Given the description of an element on the screen output the (x, y) to click on. 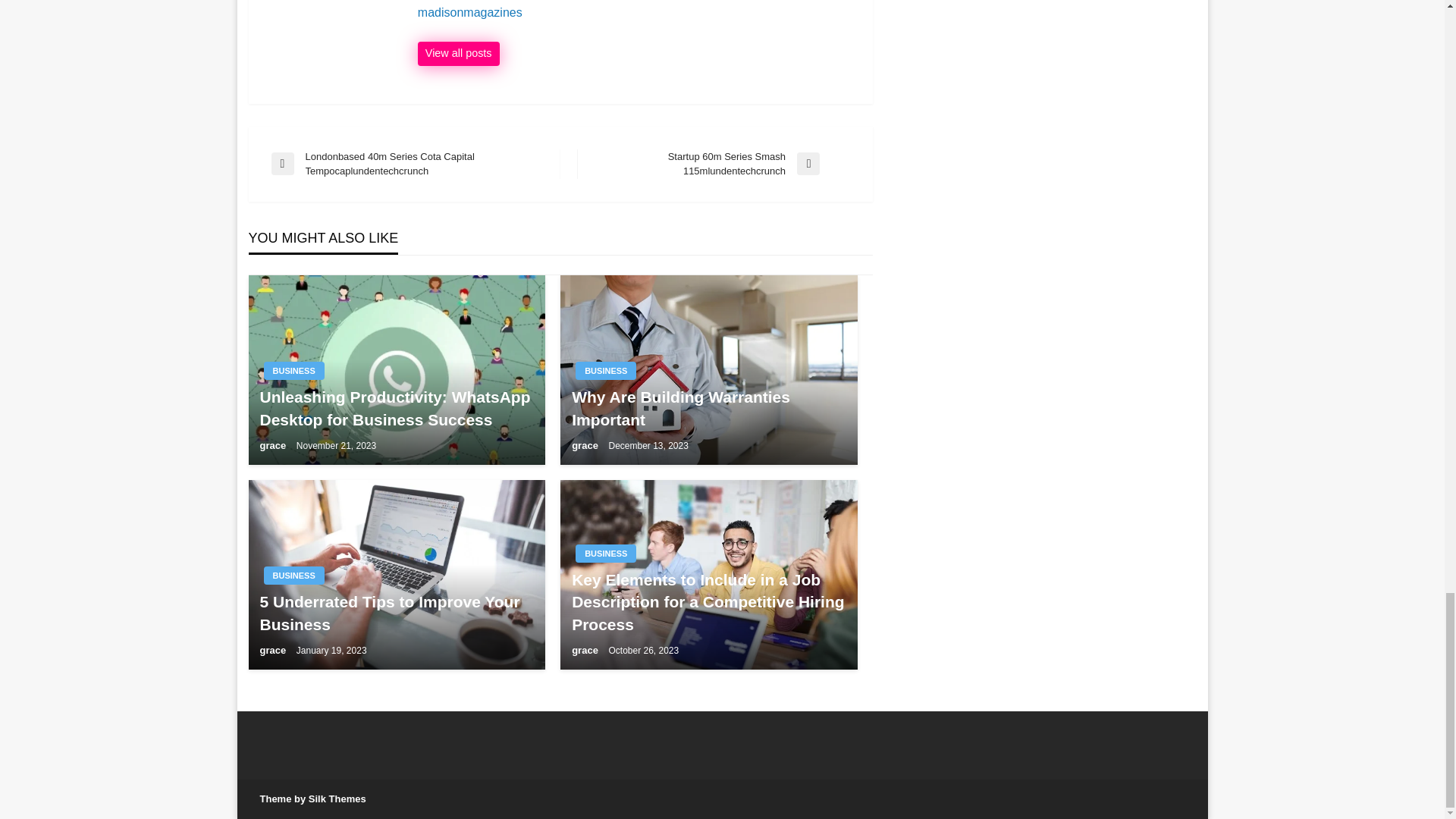
View all posts (458, 53)
grace (273, 445)
grace (273, 650)
BUSINESS (293, 370)
grace (585, 445)
Why Are Building Warranties Important (708, 407)
5 Underrated Tips to Improve Your Business (396, 612)
madisonmagazines (458, 53)
BUSINESS (293, 575)
madisonmagazines (637, 12)
madisonmagazines (637, 12)
BUSINESS (605, 370)
BUSINESS (605, 553)
